Given the description of an element on the screen output the (x, y) to click on. 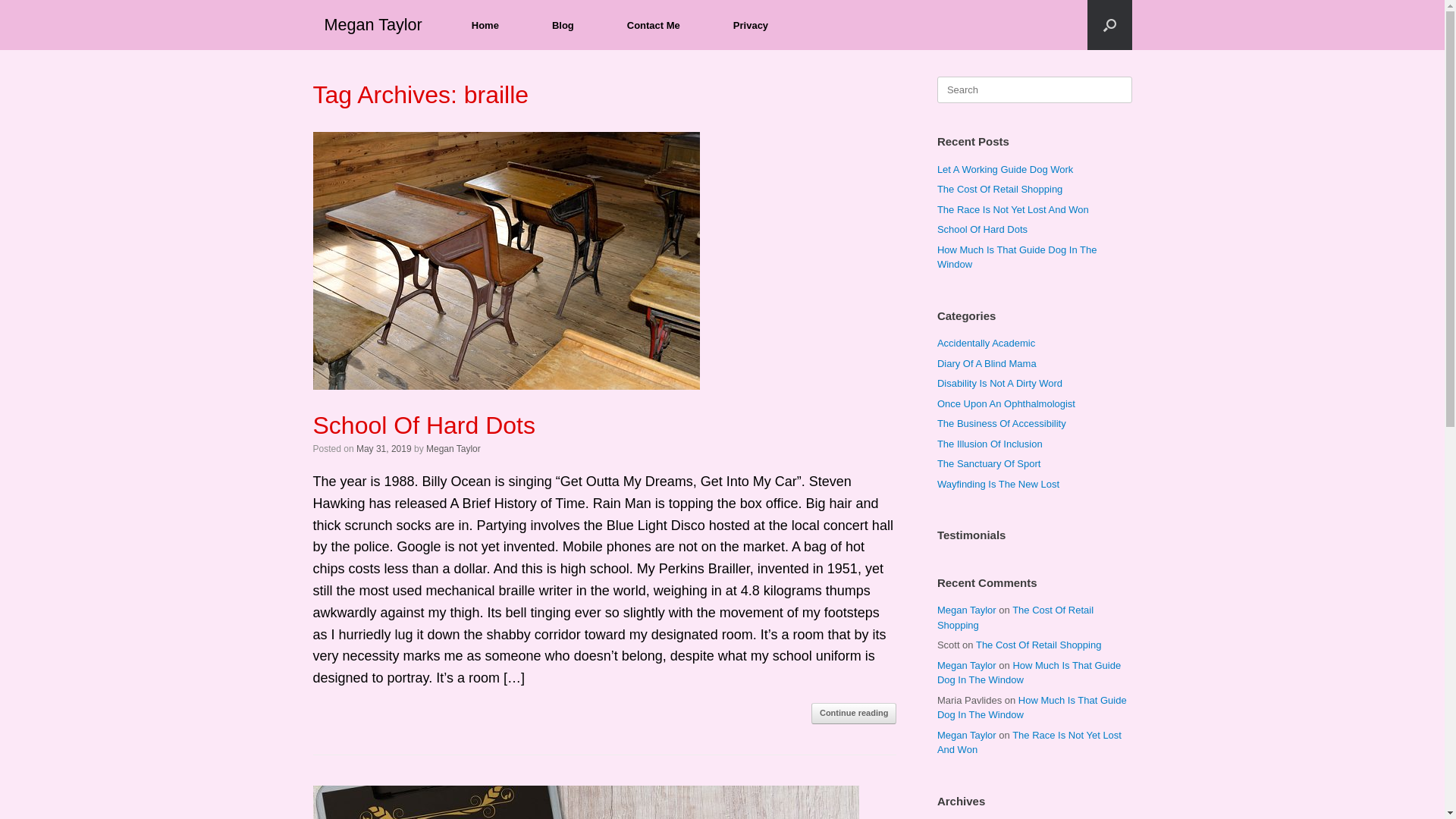
The Business Of Accessibility Element type: text (1001, 423)
Accidentally Academic Element type: text (986, 342)
Megan Taylor Element type: text (453, 448)
The Race Is Not Yet Lost And Won Element type: text (1029, 742)
Contact Me Element type: text (653, 25)
Megan Taylor Element type: text (966, 734)
Diary Of A Blind Mama Element type: text (986, 363)
Megan Taylor Element type: text (966, 665)
Blog Element type: text (562, 25)
The Sanctuary Of Sport Element type: text (989, 463)
Let A Working Guide Dog Work Element type: text (1005, 169)
The Cost Of Retail Shopping Element type: text (999, 188)
Privacy Element type: text (750, 25)
May 31, 2019 Element type: text (383, 448)
The Race Is Not Yet Lost And Won Element type: text (1012, 209)
The Cost Of Retail Shopping Element type: text (1015, 617)
Megan Taylor Element type: text (372, 25)
Wayfinding Is The New Lost Element type: text (998, 483)
The Cost Of Retail Shopping Element type: text (1038, 644)
How Much Is That Guide Dog In The Window Element type: text (1031, 707)
Once Upon An Ophthalmologist Element type: text (1006, 403)
School Of Hard Dots Element type: text (982, 229)
School Of Hard Dots Element type: text (423, 425)
Disability Is Not A Dirty Word Element type: text (999, 383)
Home Element type: text (485, 25)
Continue reading Element type: text (853, 713)
How Much Is That Guide Dog In The Window Element type: text (1017, 257)
How Much Is That Guide Dog In The Window Element type: text (1028, 672)
The Illusion Of Inclusion Element type: text (989, 443)
Megan Taylor Element type: text (966, 609)
